Given the description of an element on the screen output the (x, y) to click on. 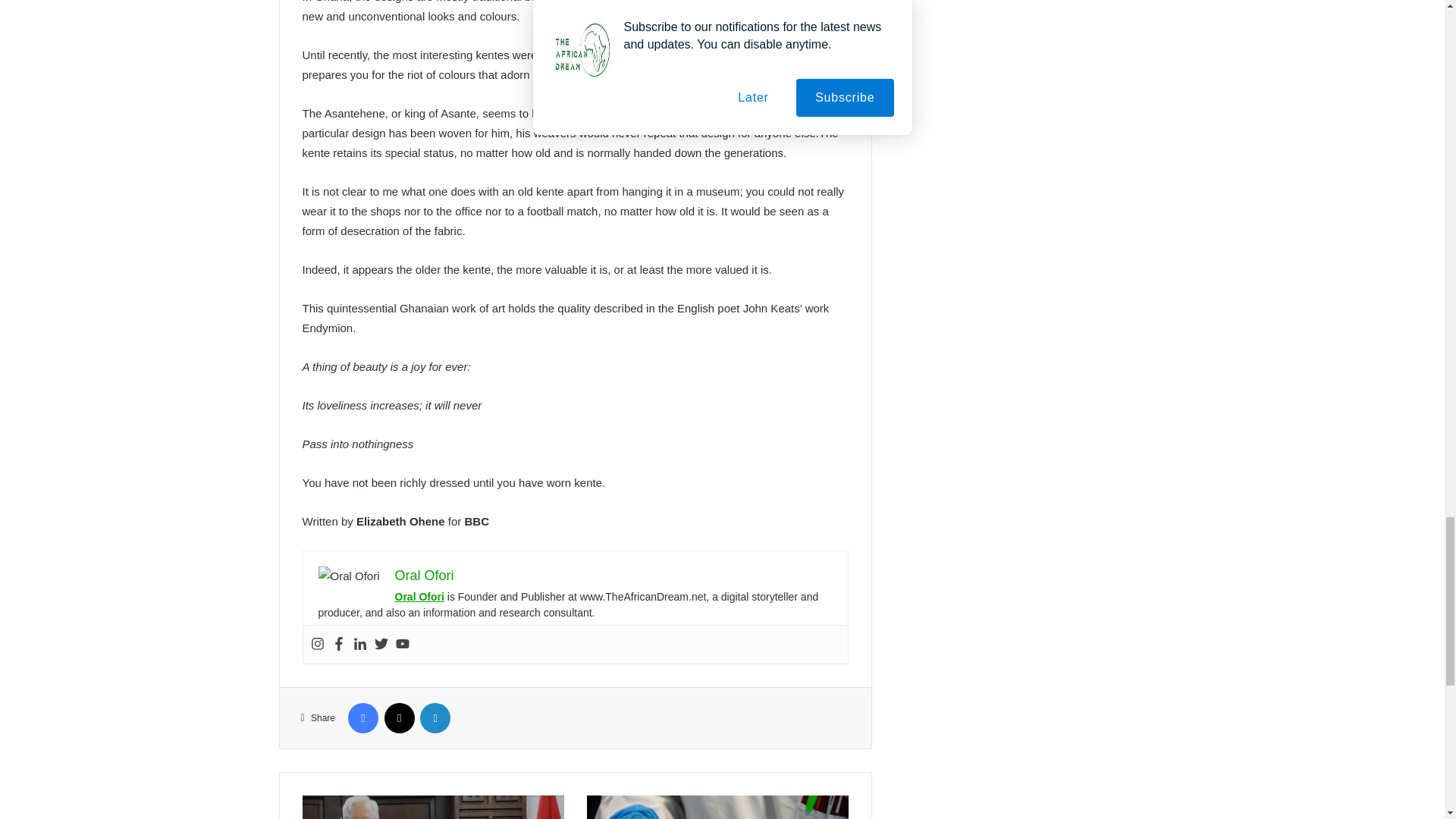
Instagram (317, 644)
Youtube (402, 644)
Linkedin (359, 644)
Facebook (338, 644)
Twitter (381, 644)
